Given the description of an element on the screen output the (x, y) to click on. 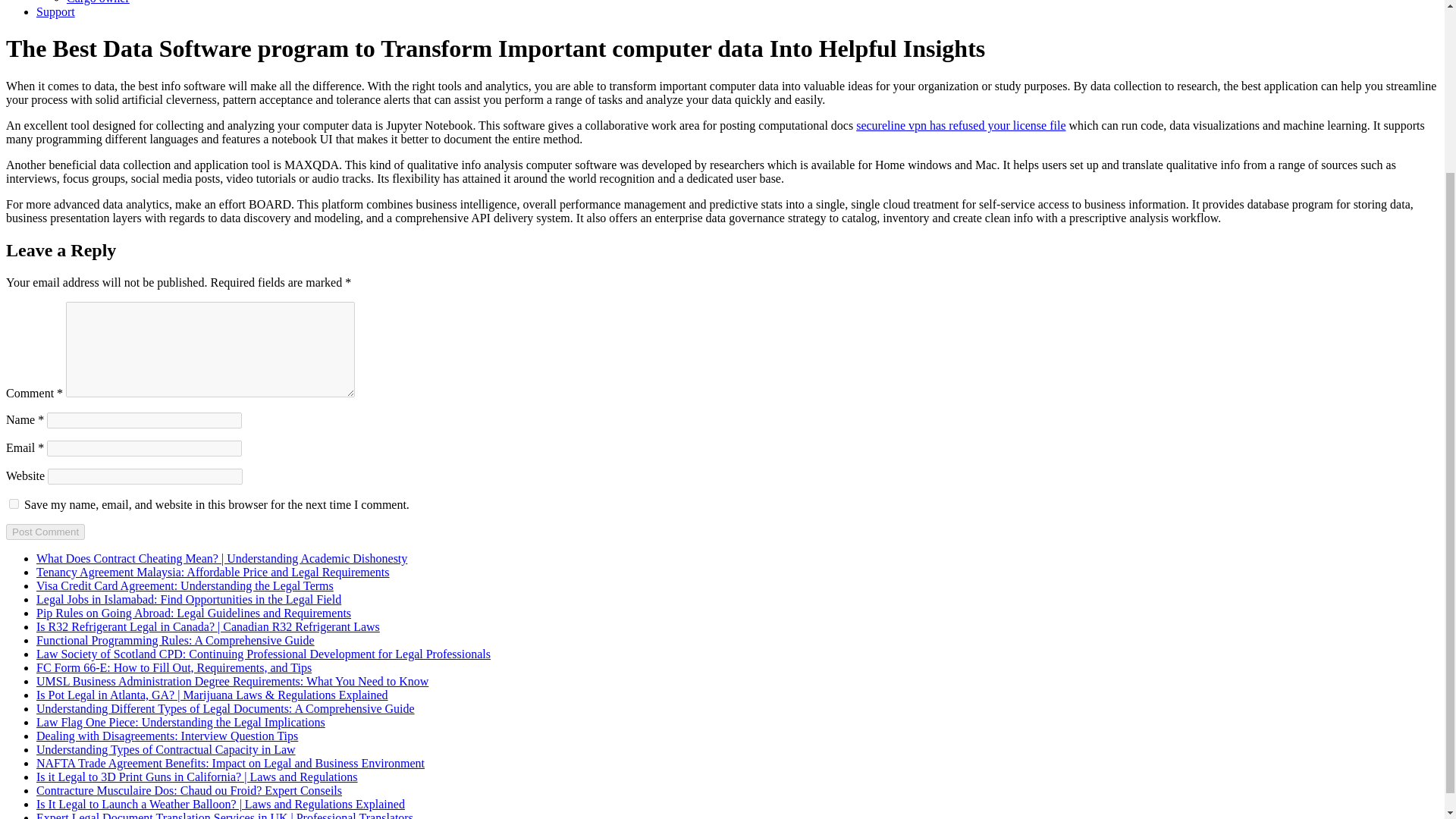
Law Flag One Piece: Understanding the Legal Implications (180, 721)
Contracture Musculaire Dos: Chaud ou Froid? Expert Conseils (189, 789)
Pip Rules on Going Abroad: Legal Guidelines and Requirements (193, 612)
Post Comment (44, 531)
Visa Credit Card Agreement: Understanding the Legal Terms (184, 585)
Functional Programming Rules: A Comprehensive Guide (175, 640)
Understanding Types of Contractual Capacity in Law (165, 748)
Support (55, 11)
Functional Programming Rules: A Comprehensive Guide (175, 640)
